Given the description of an element on the screen output the (x, y) to click on. 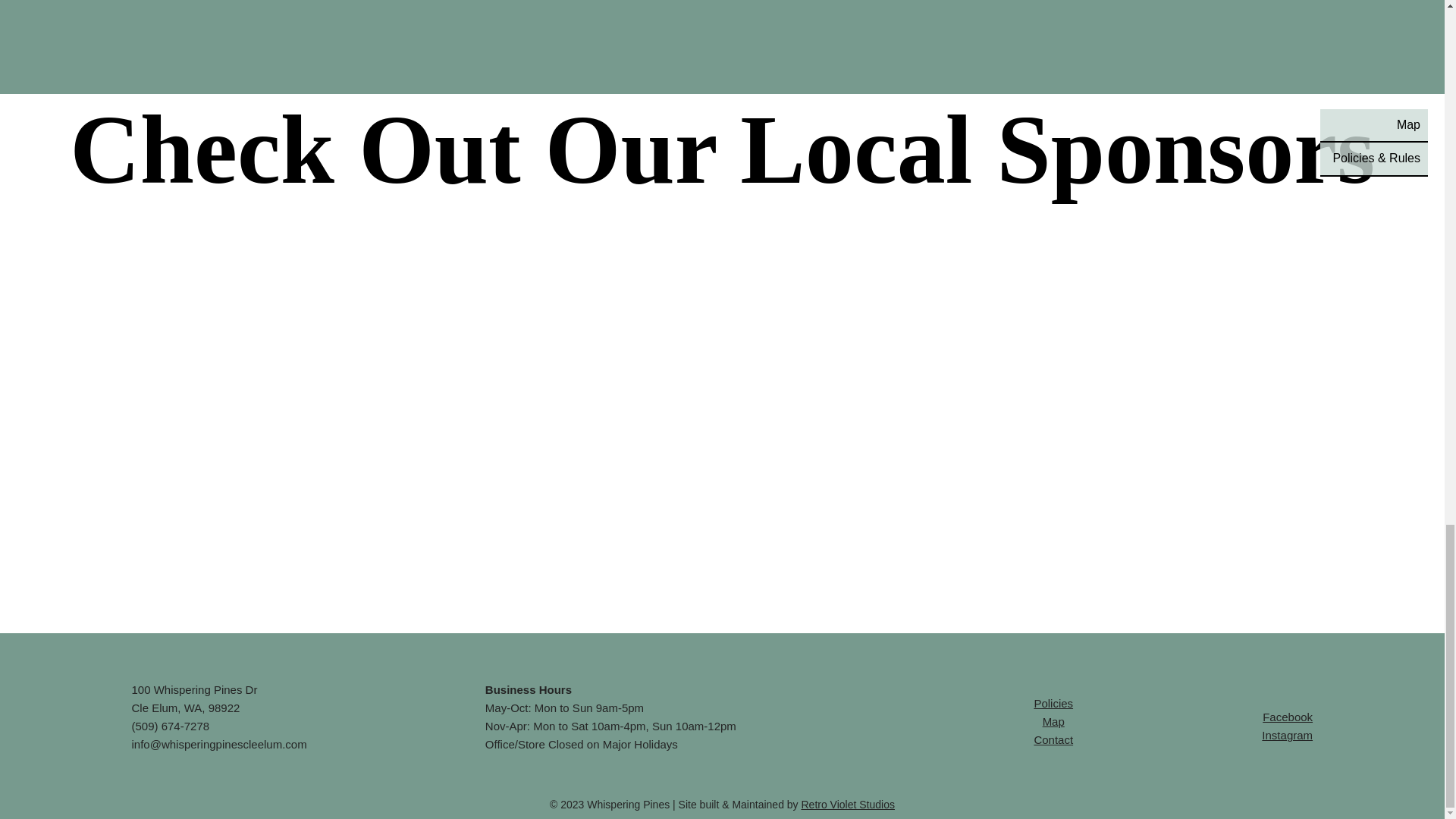
Retro Violet Studios (846, 804)
Contact (1053, 739)
Map (1053, 721)
Instagram (1287, 735)
Policies (1053, 703)
Facebook (721, 157)
